Given the description of an element on the screen output the (x, y) to click on. 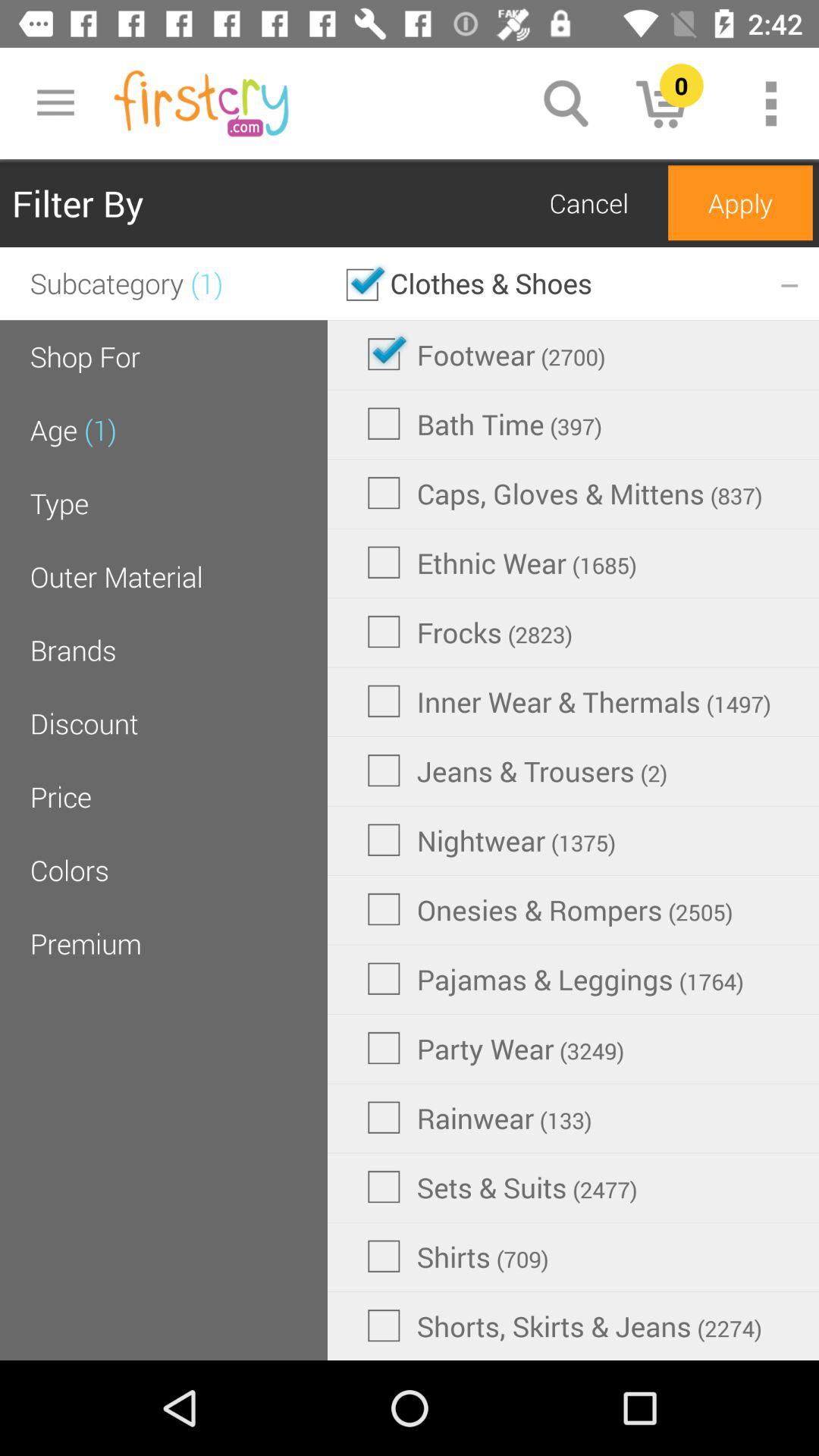
select the item to the left of the inner wear thermals icon (84, 723)
